Given the description of an element on the screen output the (x, y) to click on. 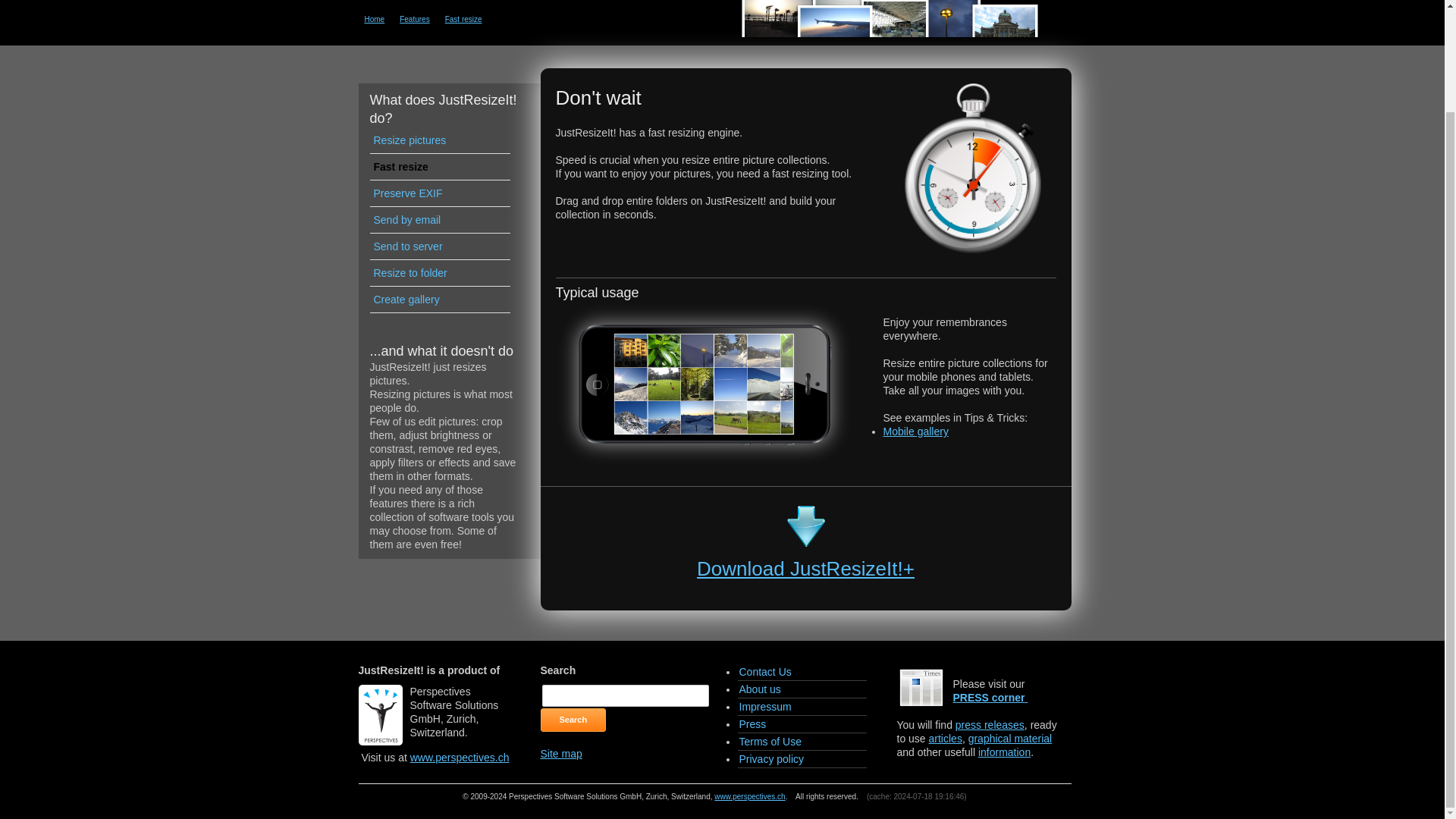
Press releases (990, 725)
Download (805, 568)
Resize pictures (440, 140)
Local folder (914, 431)
Send to server (440, 246)
Create gallery (440, 299)
Fast resize (468, 19)
Press (988, 697)
Privacy policy (801, 759)
Resize to folder (440, 273)
Articles (945, 738)
graphical material (1010, 738)
About us (801, 689)
Impressum (801, 706)
information (1004, 752)
